Given the description of an element on the screen output the (x, y) to click on. 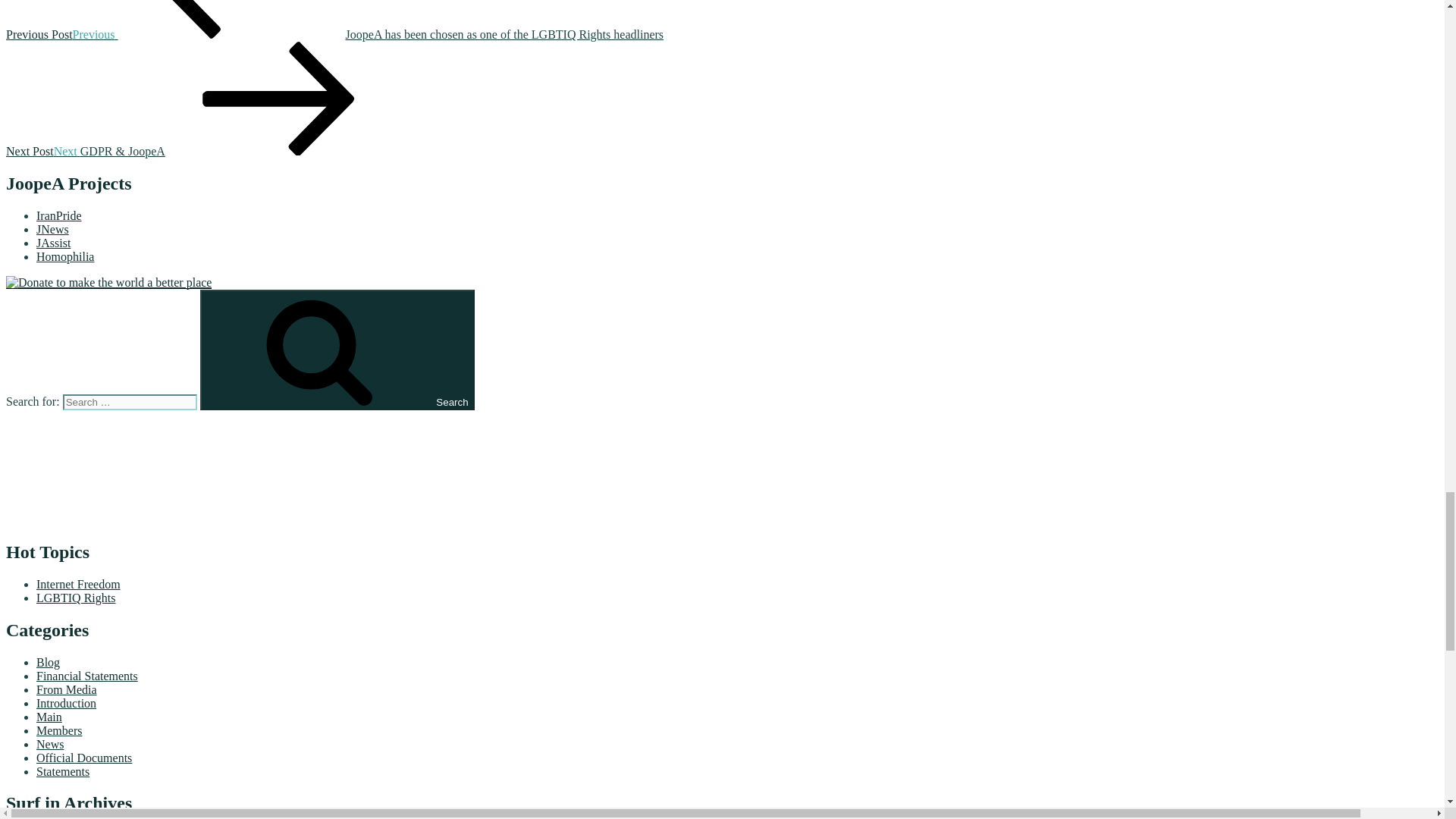
Blog (47, 661)
From Media (66, 688)
Homophilia (65, 256)
JNews (52, 228)
JAssist (52, 242)
IranPride (58, 215)
Search (337, 349)
LGBTIQ Rights (75, 597)
Financial Statements (87, 675)
